Given the description of an element on the screen output the (x, y) to click on. 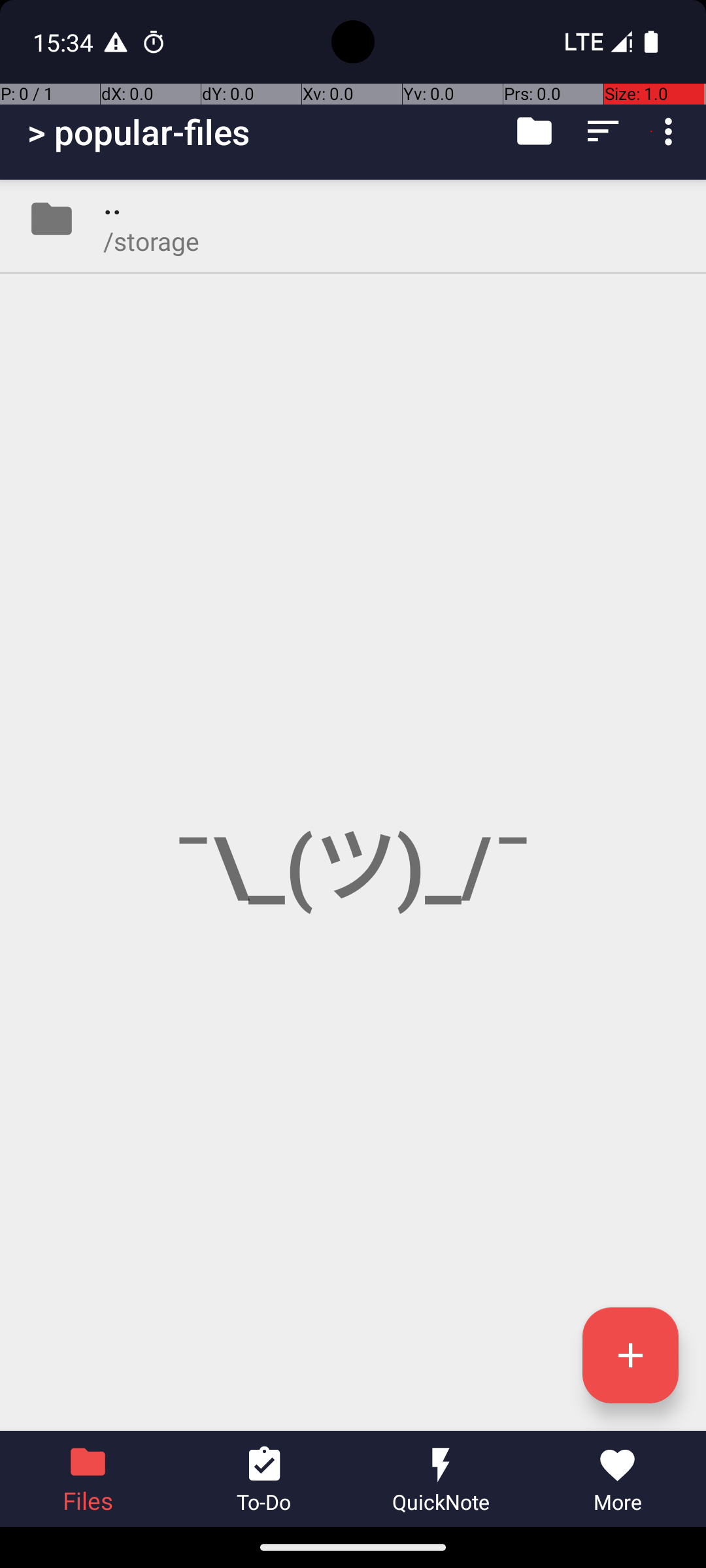
> popular-files Element type: android.widget.TextView (138, 131)
Folder .. /storage Element type: android.widget.LinearLayout (353, 218)
